Given the description of an element on the screen output the (x, y) to click on. 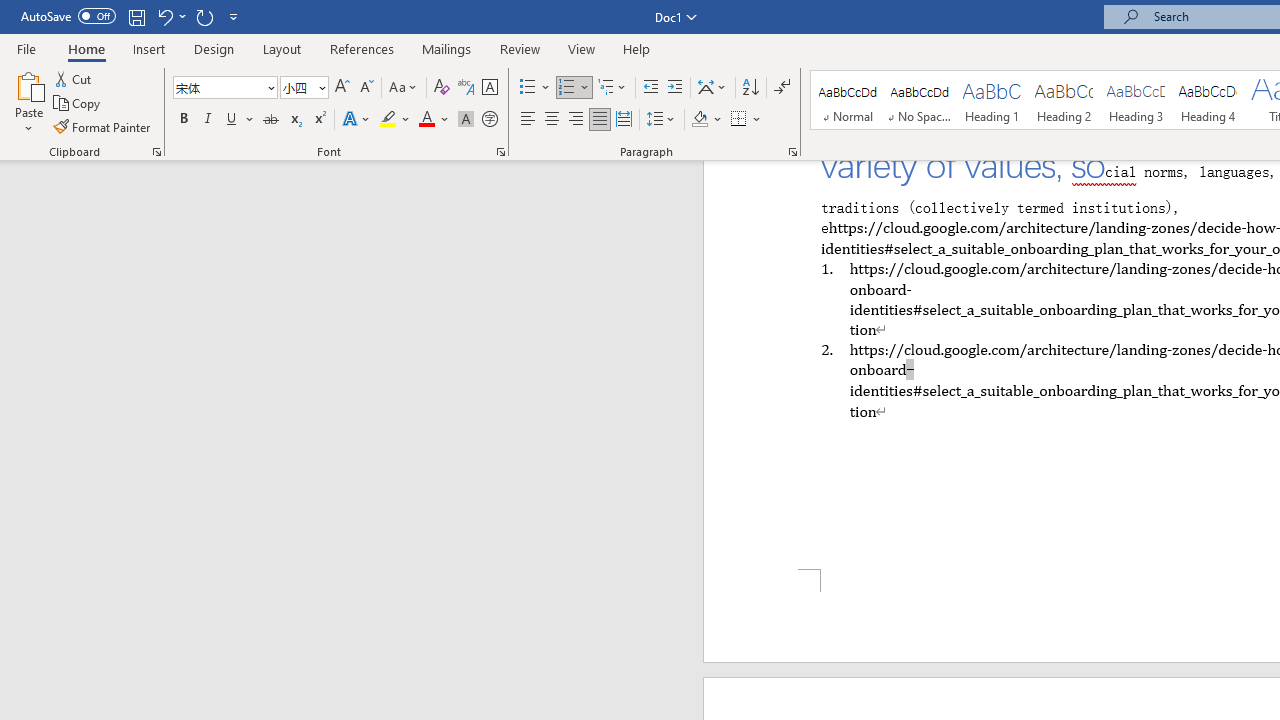
Open (320, 87)
System (10, 11)
Text Highlight Color (395, 119)
Borders (739, 119)
Justify (599, 119)
Character Shading (465, 119)
Office Clipboard... (156, 151)
Heading 4 (1208, 100)
Format Painter (103, 126)
Change Case (404, 87)
Italic (207, 119)
Bold (183, 119)
Underline (239, 119)
Underline (232, 119)
Align Left (527, 119)
